Given the description of an element on the screen output the (x, y) to click on. 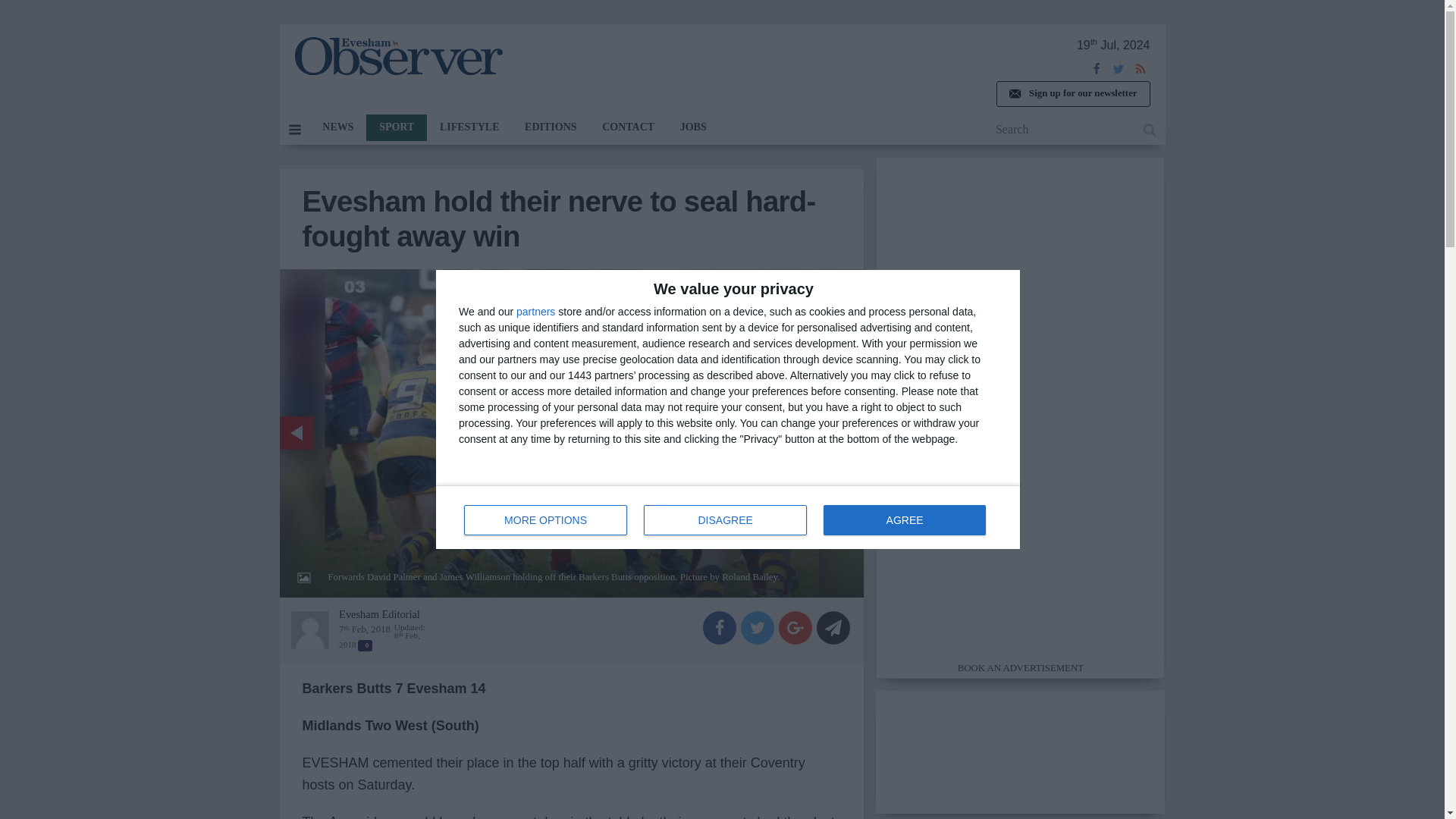
AGREE (727, 516)
NEWS (904, 520)
  Sign up for our newsletter (337, 127)
The Evesham Observer (1072, 94)
CONTACT (398, 55)
LIFESTYLE (627, 127)
SPORT (469, 127)
DISAGREE (396, 127)
MORE OPTIONS (724, 520)
JOBS (545, 520)
partners (692, 127)
EDITIONS (535, 311)
